Given the description of an element on the screen output the (x, y) to click on. 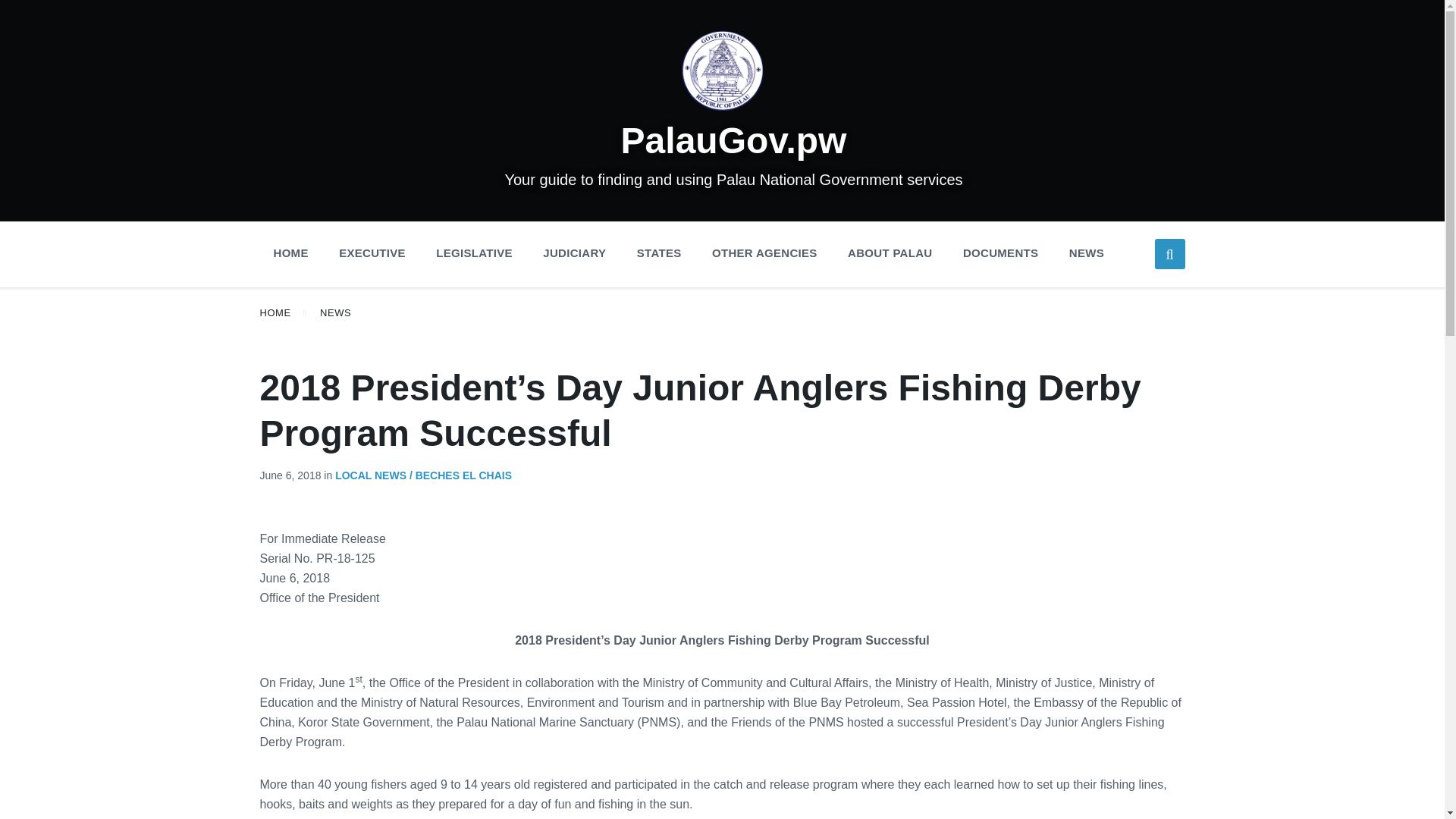
JUDICIARY (574, 253)
HOME (290, 253)
EXECUTIVE (371, 253)
STATES (659, 253)
Category (417, 475)
LEGISLATIVE (473, 253)
PalauGov.pw (734, 140)
Expand search (1169, 254)
